Given the description of an element on the screen output the (x, y) to click on. 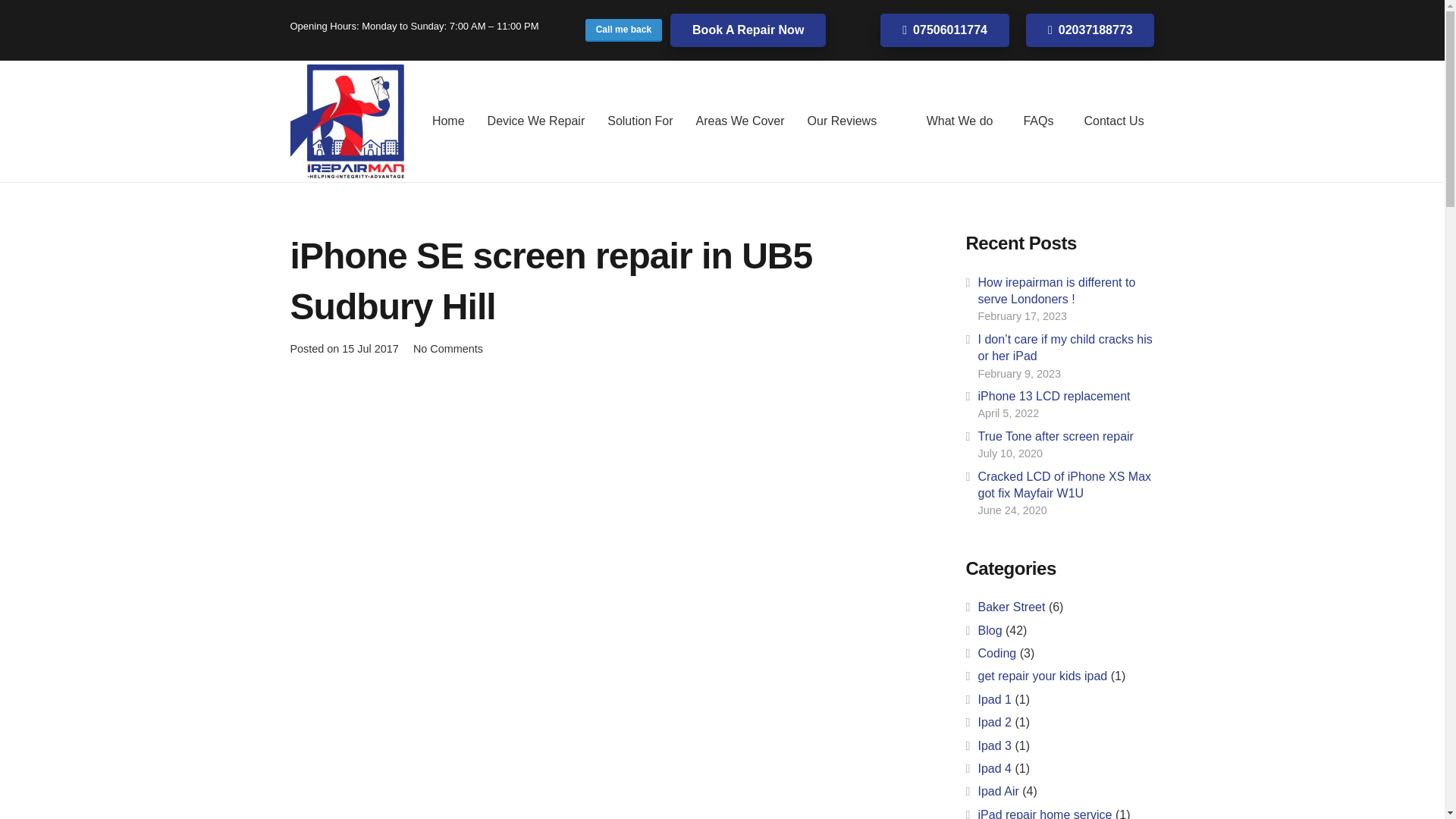
Areas We Cover (739, 120)
07506011774 (944, 30)
Call me back (623, 29)
No Comments (448, 348)
Book A Repair Now (747, 30)
02037188773 (1090, 30)
Click here to open Popup (623, 29)
No Comments (448, 348)
Device We Repair (536, 120)
